Given the description of an element on the screen output the (x, y) to click on. 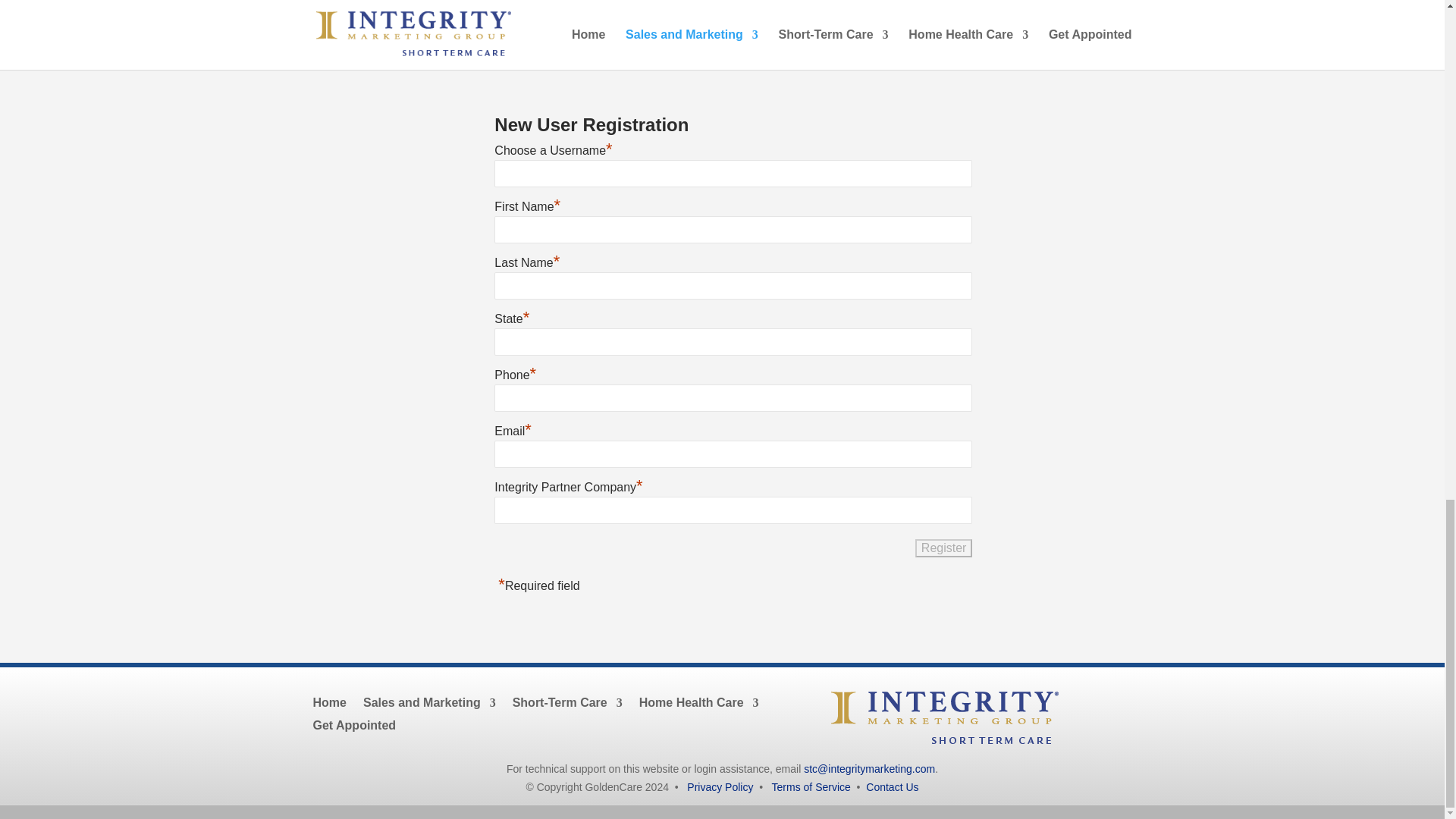
Short-Term Care (567, 699)
Get Appointed (354, 722)
Privacy Policy (719, 787)
Home (329, 699)
Sales and Marketing (429, 699)
Home Health Care (698, 699)
Register (943, 547)
Terms of Service (810, 787)
Register (943, 547)
Contact Us (892, 787)
